Given the description of an element on the screen output the (x, y) to click on. 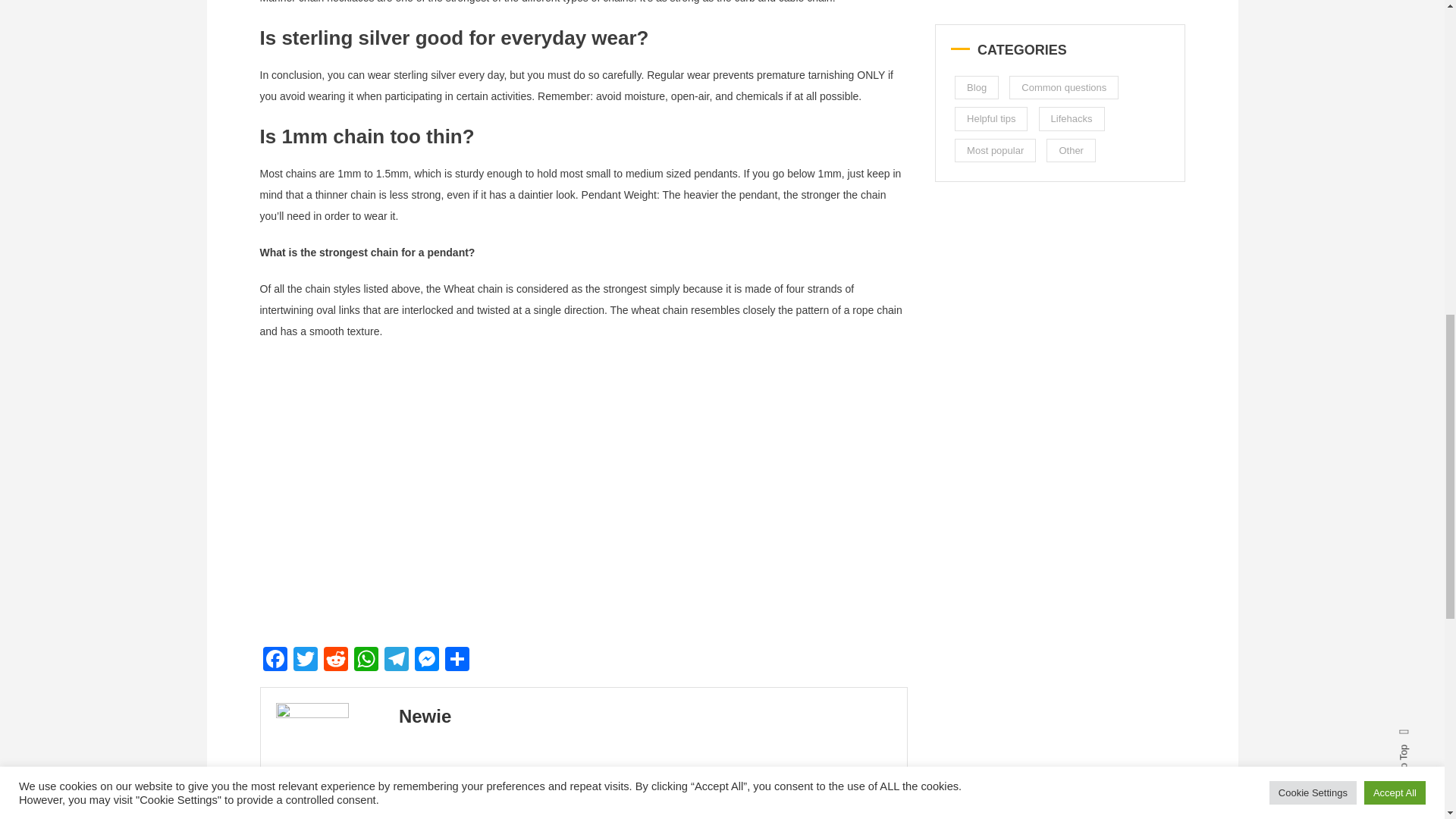
Facebook (274, 660)
Twitter (304, 660)
Posts by Newie (424, 715)
WhatsApp (365, 660)
Reddit (335, 660)
Newie (424, 715)
WhatsApp (365, 660)
Reddit (335, 660)
Telegram (395, 660)
7mm Rope Chain Review (501, 493)
